Given the description of an element on the screen output the (x, y) to click on. 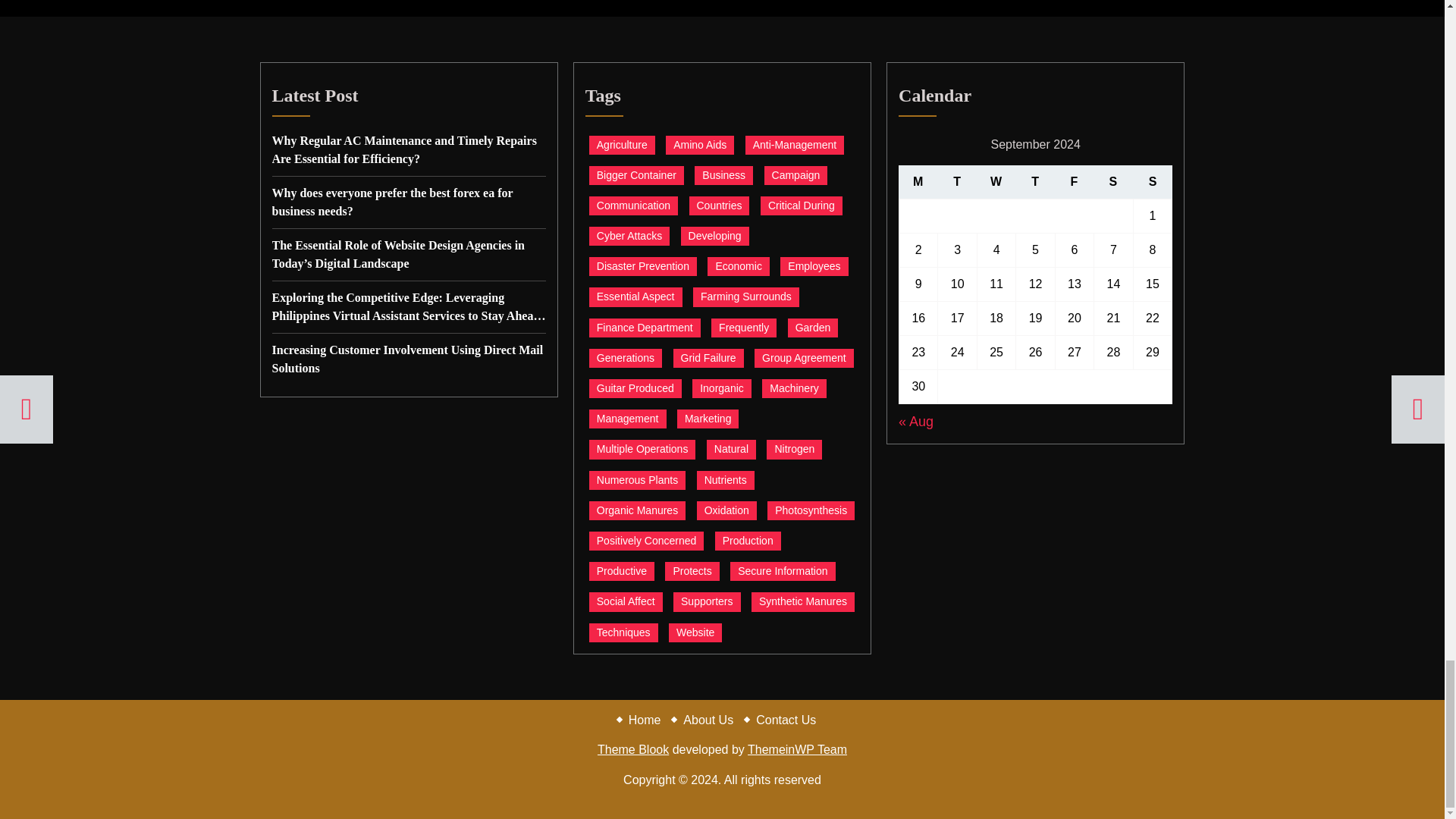
Thursday (1034, 182)
Friday (1073, 182)
Tuesday (956, 182)
Saturday (1112, 182)
Sunday (1152, 182)
Wednesday (995, 182)
Monday (917, 182)
